Given the description of an element on the screen output the (x, y) to click on. 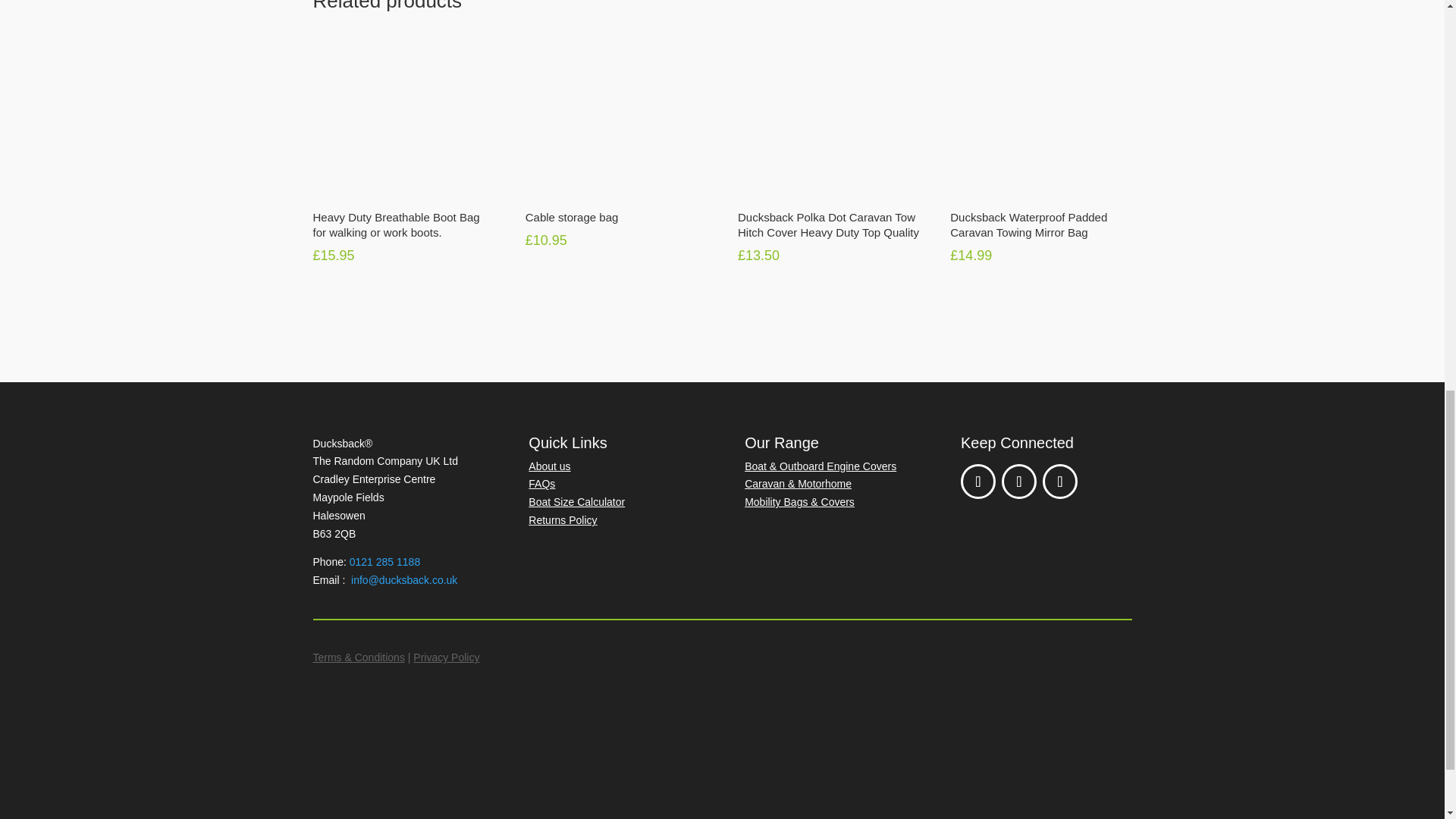
Follow on Facebook (977, 481)
Boat Size Calculator (576, 501)
0121 285 1188 (384, 562)
Follow on X (1018, 481)
Follow on Amazon (1059, 481)
Returns Policy (562, 520)
Privacy Policy (446, 657)
About us (549, 466)
FAQs (541, 483)
